Given the description of an element on the screen output the (x, y) to click on. 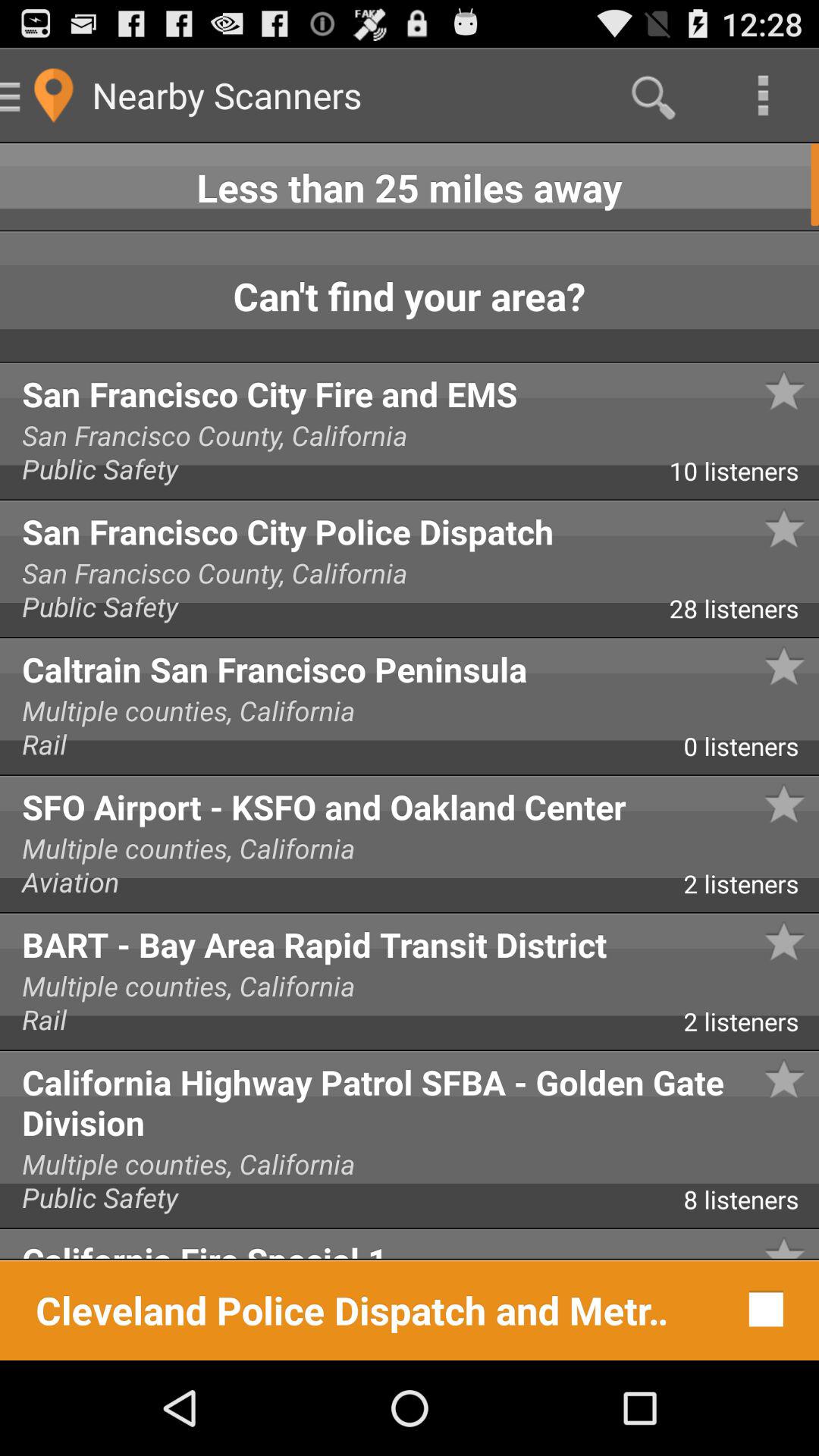
turn off the item below the multiple counties, california (751, 1204)
